Given the description of an element on the screen output the (x, y) to click on. 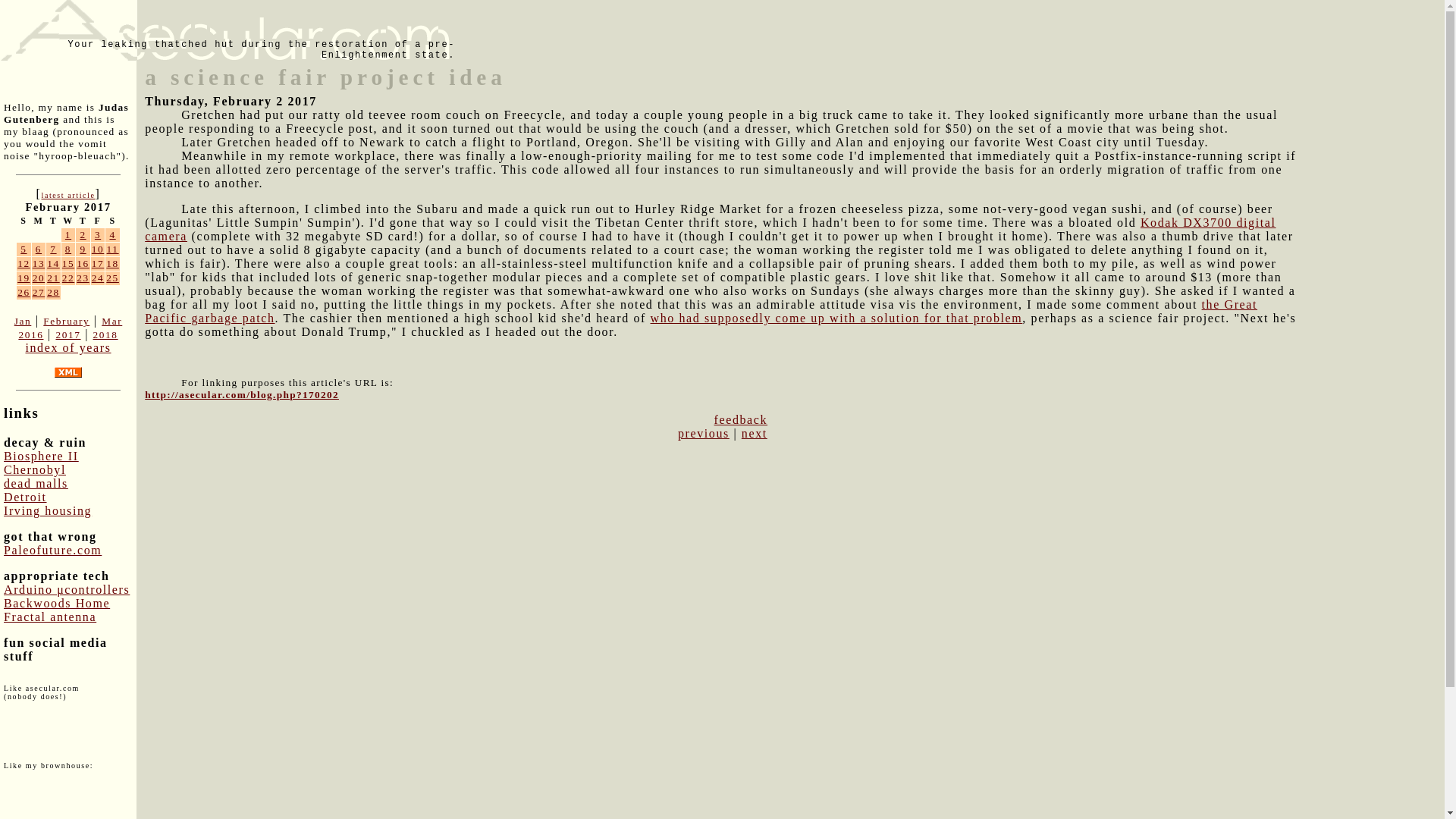
latest article (67, 194)
February (65, 320)
11 (112, 248)
19 (23, 277)
Mar (111, 320)
17 (97, 263)
Jan (23, 320)
Chernobyl (34, 469)
22 (68, 277)
2018 (105, 334)
23 (82, 277)
10 (97, 248)
21 (52, 277)
dead malls (36, 482)
14 (52, 263)
